Given the description of an element on the screen output the (x, y) to click on. 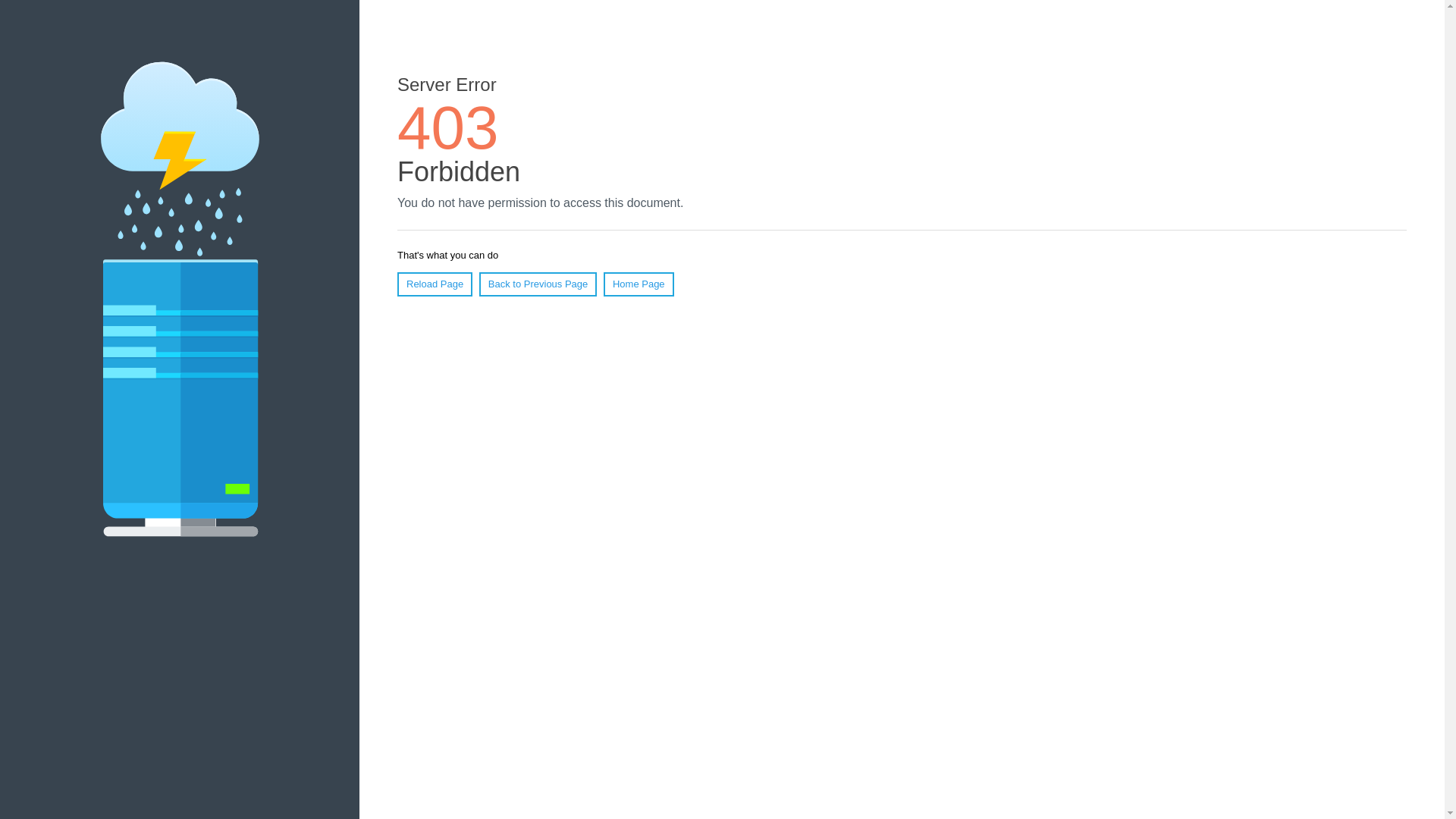
Reload Page (434, 283)
Home Page (639, 283)
Back to Previous Page (537, 283)
